Given the description of an element on the screen output the (x, y) to click on. 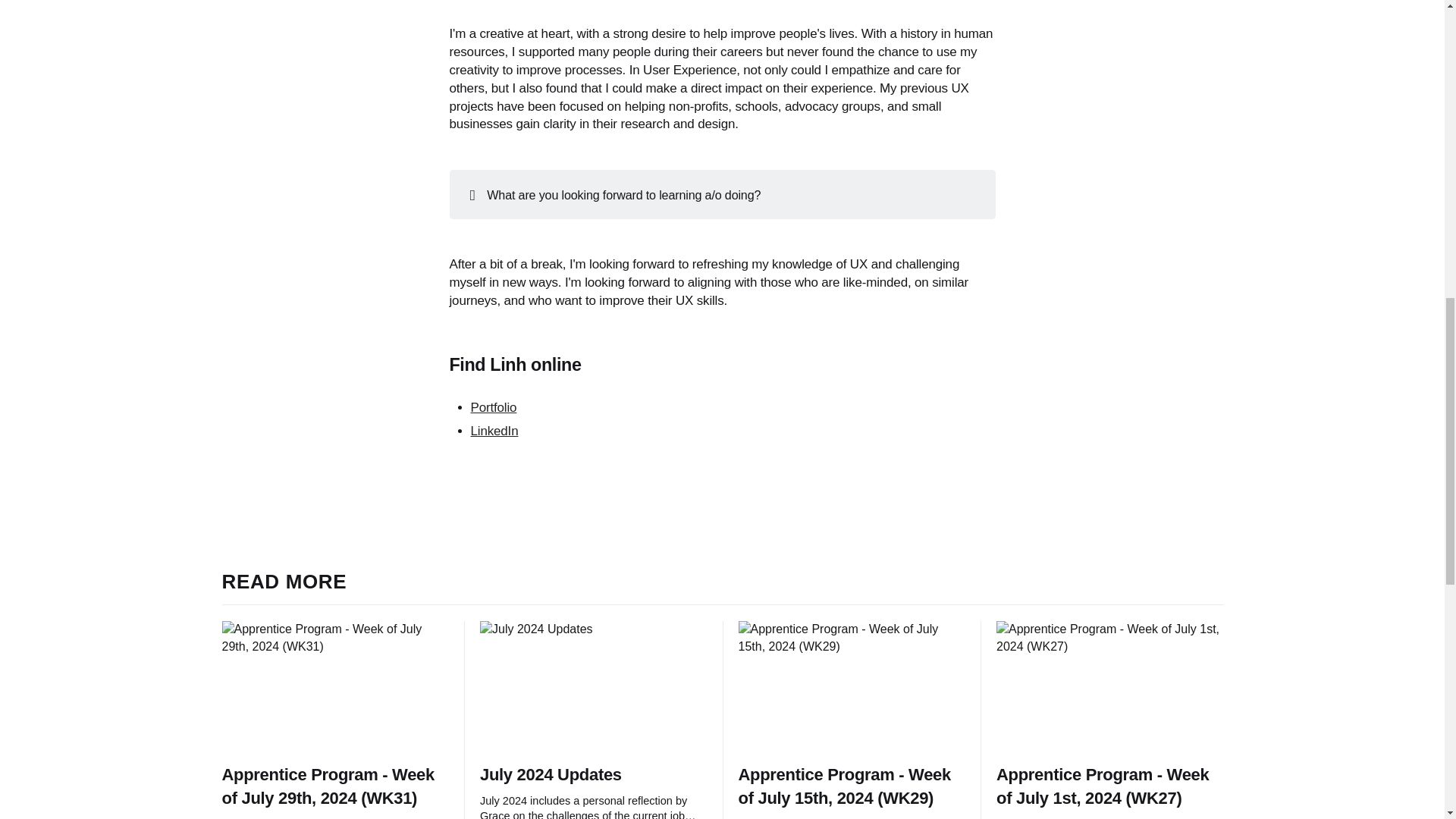
Portfolio (493, 407)
LinkedIn (494, 431)
